Given the description of an element on the screen output the (x, y) to click on. 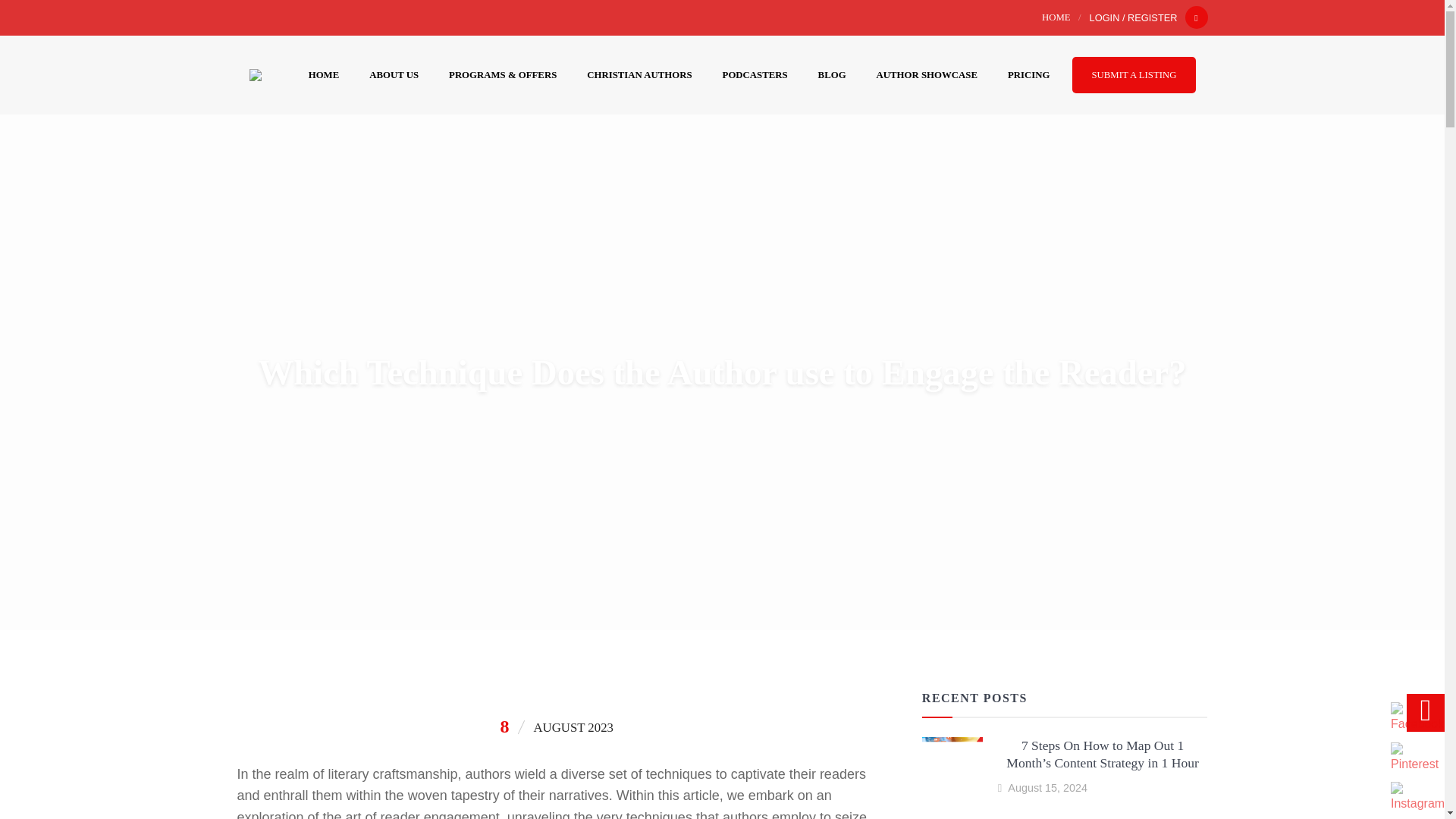
ABOUT US (393, 74)
PRICING (1028, 74)
CHRISTIAN AUTHORS (638, 74)
AUTHOR SHOWCASE (927, 74)
Facebook (1417, 717)
PODCASTERS (754, 74)
SUBMIT A LISTING (1133, 74)
Pinterest (1414, 757)
HOME (324, 74)
